Given the description of an element on the screen output the (x, y) to click on. 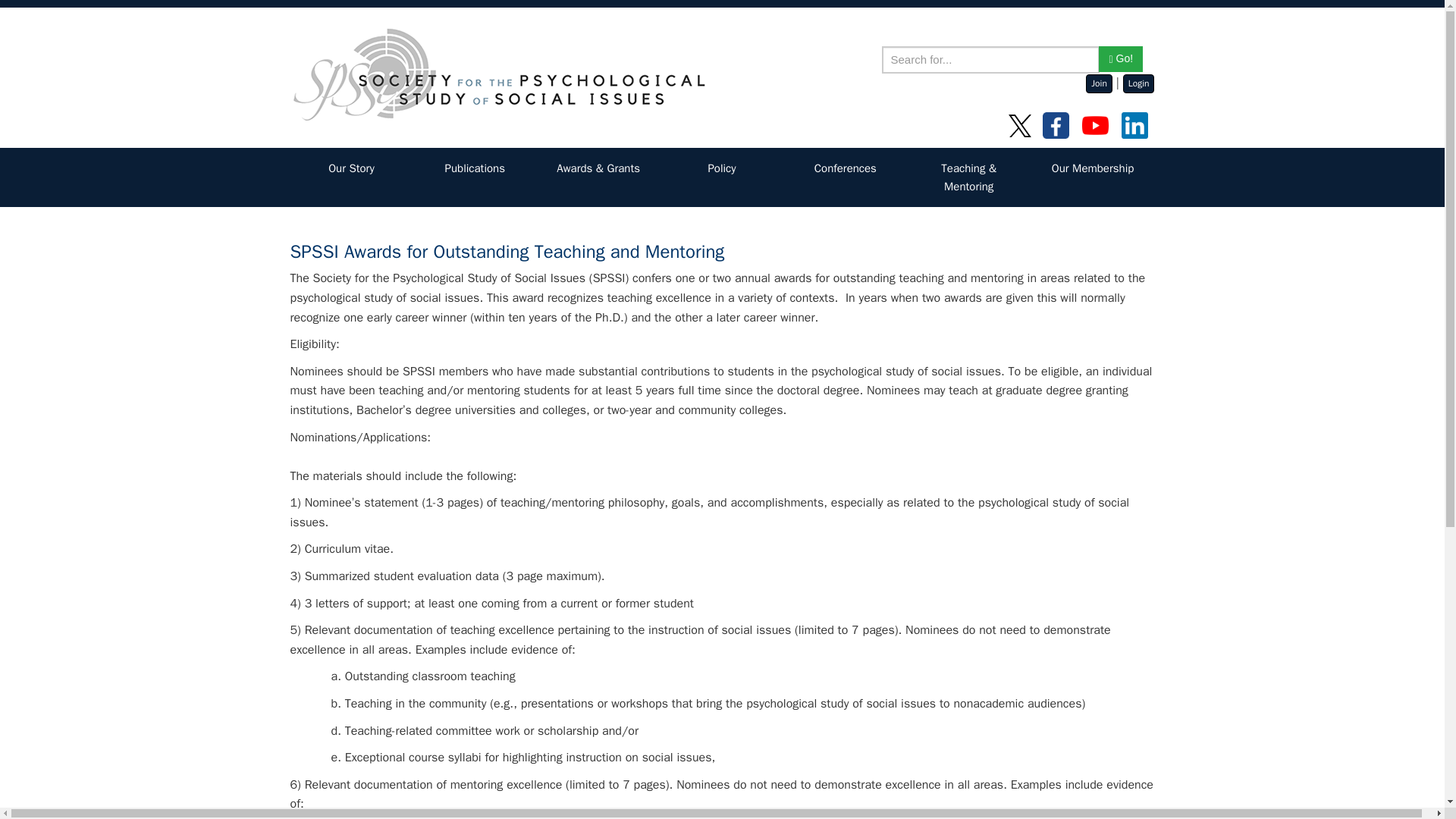
Our Story (351, 168)
Our Story (351, 168)
Publications (475, 168)
Conferences (845, 168)
Login (1138, 83)
Policy (722, 168)
Join (1099, 83)
Go! (1120, 58)
Publications (475, 168)
Policy (722, 168)
